Given the description of an element on the screen output the (x, y) to click on. 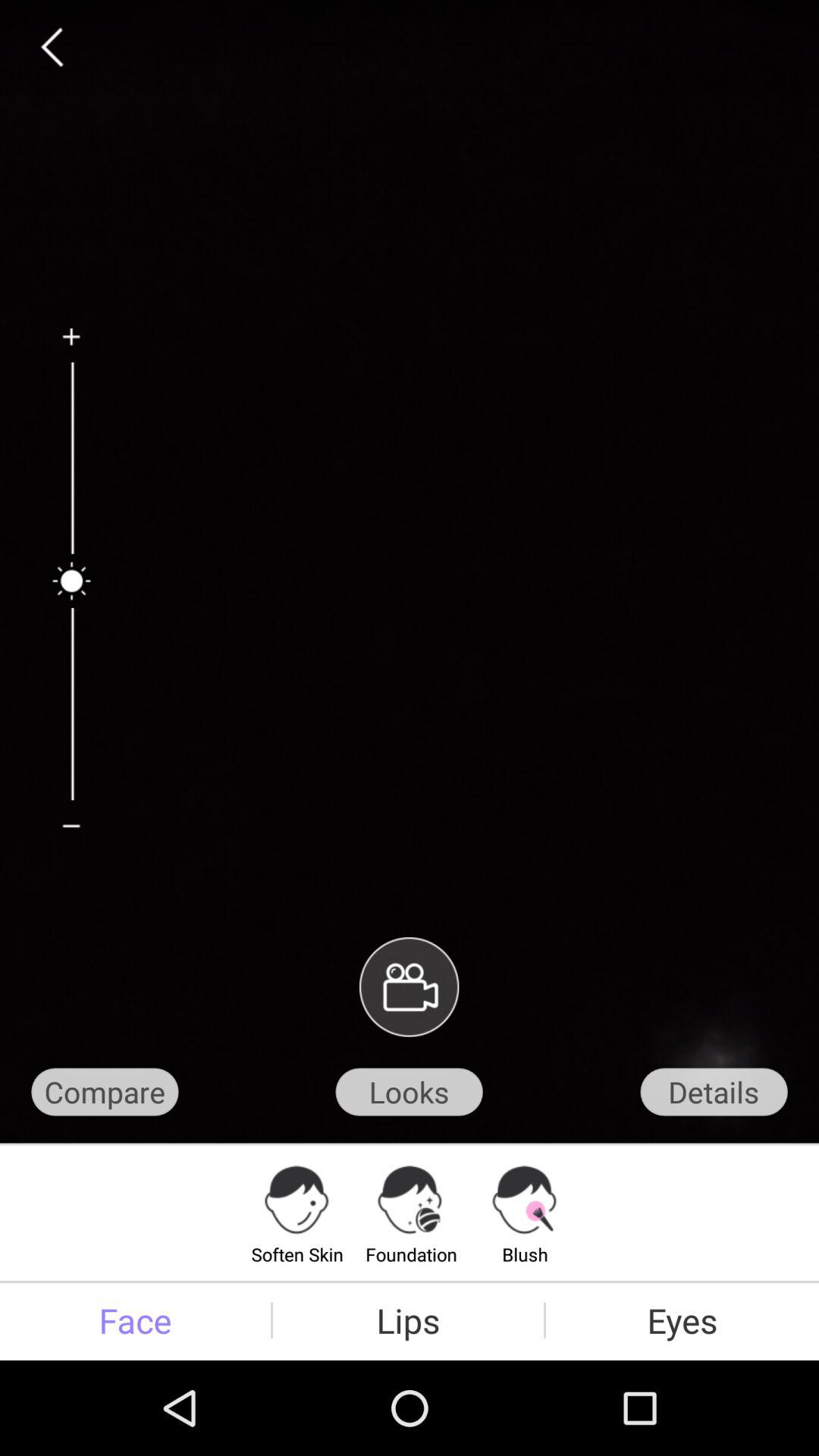
select the icon which is above foundation on a page (411, 1199)
go to  (71, 344)
click  on the details option (713, 1091)
click on the icon above looks (408, 986)
click on the option soften skin (297, 1211)
click icon on top of text soften skin (297, 1199)
select the foundation button on the page (411, 1211)
